Given the description of an element on the screen output the (x, y) to click on. 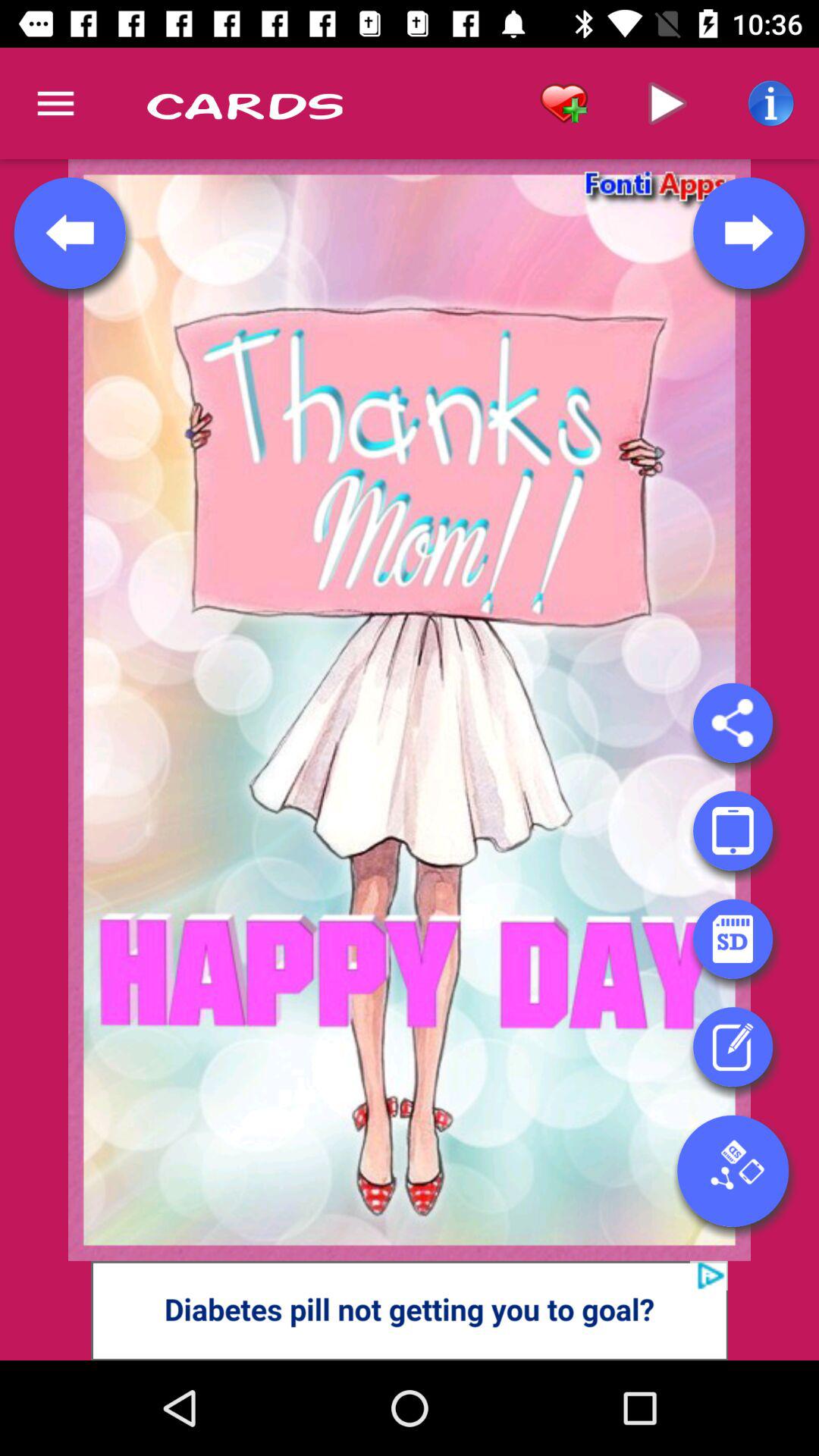
click on advertisement (409, 1310)
